Given the description of an element on the screen output the (x, y) to click on. 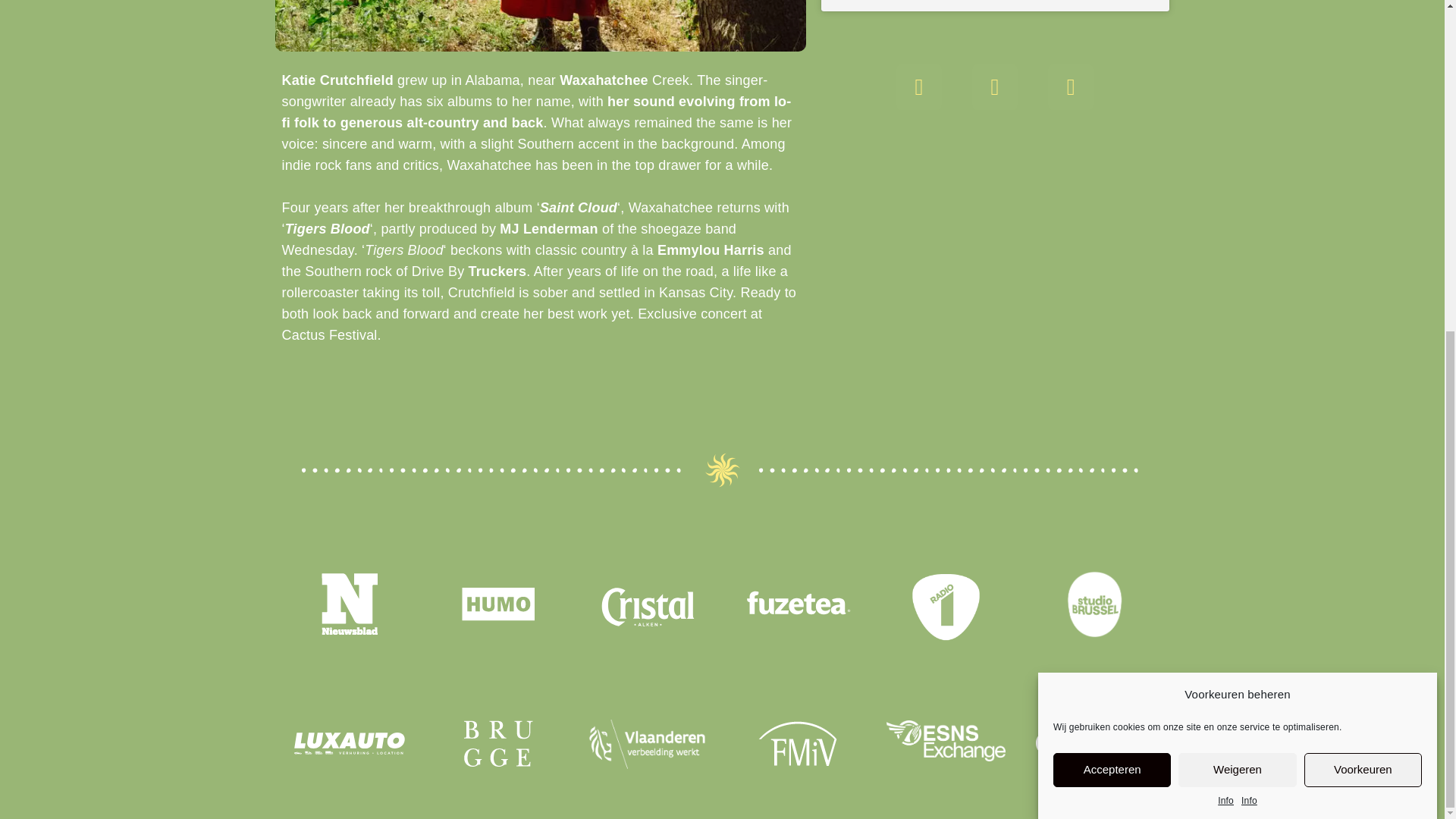
Info (1249, 346)
Accepteren (1111, 447)
Info (1225, 354)
Weigeren (1236, 419)
